Given the description of an element on the screen output the (x, y) to click on. 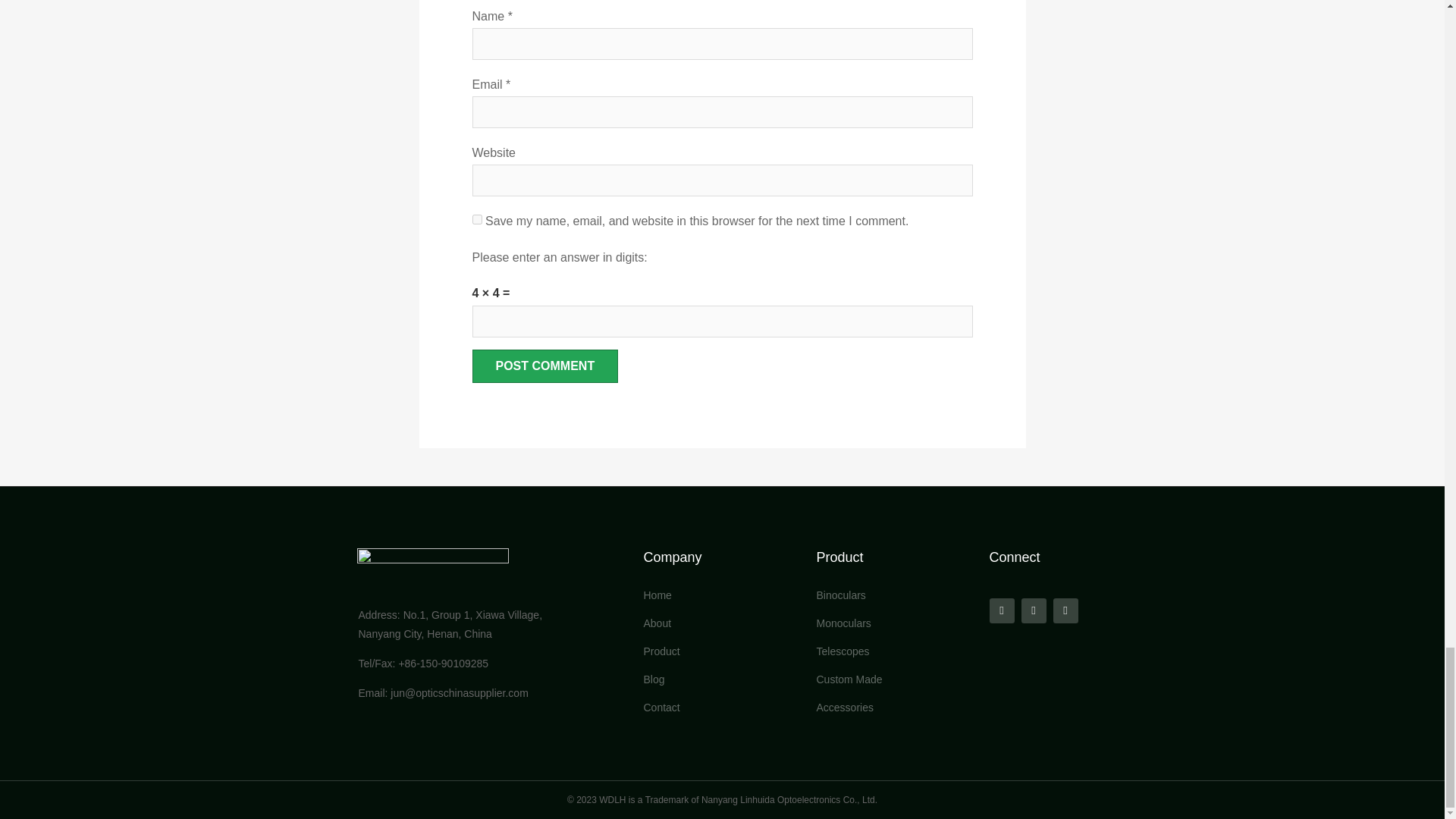
Post Comment (544, 366)
Blog (721, 679)
Monoculars (894, 622)
About (721, 622)
Contact (721, 707)
Product (721, 651)
Home (721, 595)
yes (476, 219)
Binoculars (894, 595)
Accessories (894, 707)
Custom Made (894, 679)
Post Comment (544, 366)
Telescopes (894, 651)
